Given the description of an element on the screen output the (x, y) to click on. 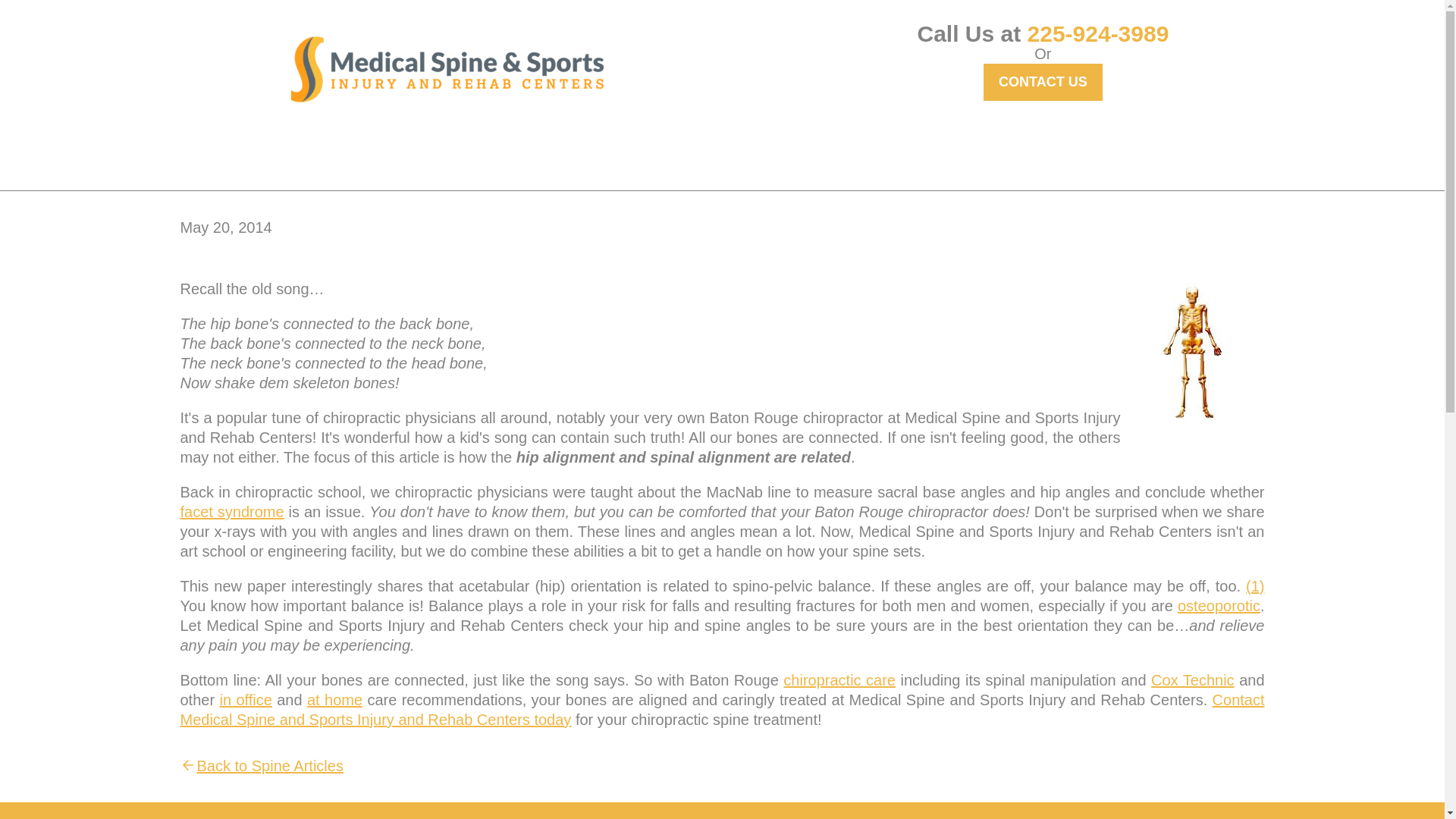
CONTACT US (1043, 81)
Medical Spine and Sports Injury and Rehab Centers Home (446, 69)
GET RELIEF (353, 153)
225-924-3989 (1098, 33)
ID YOUR PAIN (467, 153)
